Given the description of an element on the screen output the (x, y) to click on. 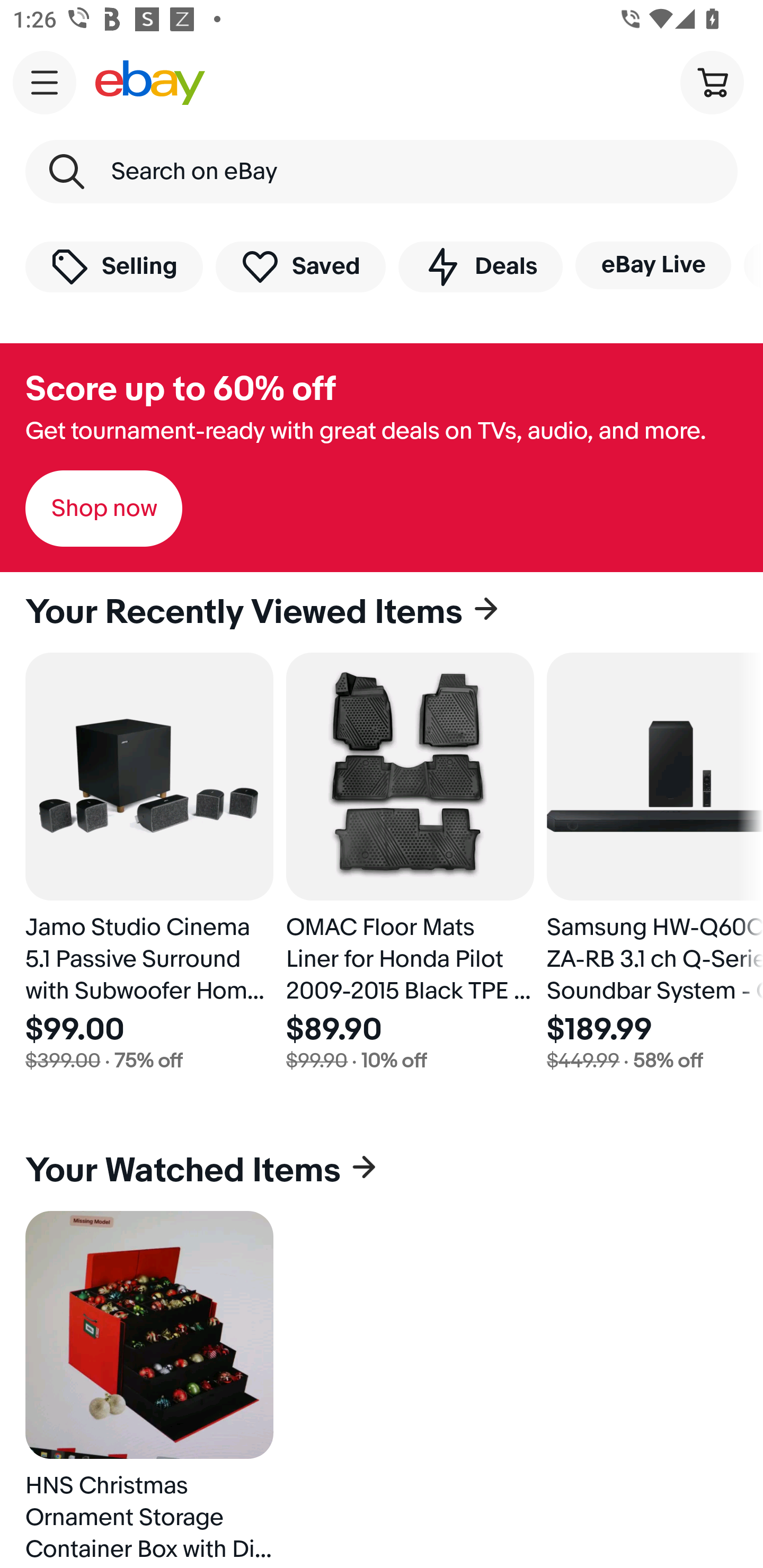
Main navigation, open (44, 82)
Cart button shopping cart (711, 81)
Search on eBay Search Keyword Search on eBay (381, 171)
Selling (113, 266)
Saved (300, 266)
Deals (480, 266)
eBay Live (652, 264)
Score up to 60% off (180, 389)
Shop now (103, 508)
Your Recently Viewed Items   (381, 612)
Your Watched Items   (381, 1170)
